Given the description of an element on the screen output the (x, y) to click on. 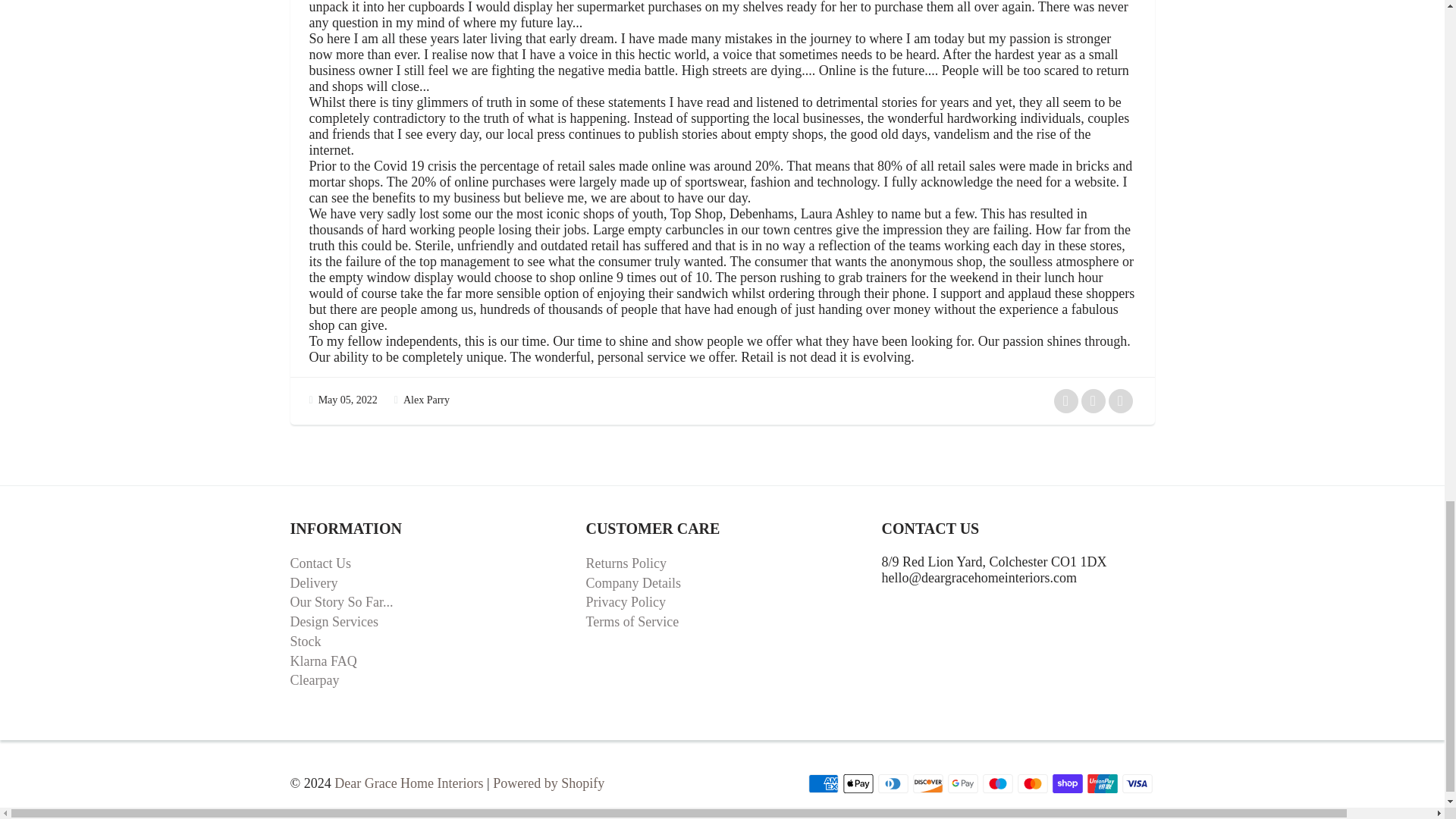
Discover (927, 783)
Google Pay (962, 783)
Maestro (997, 783)
Shop Pay (1067, 783)
Union Pay (1102, 783)
Apple Pay (858, 783)
American Express (823, 783)
Diners Club (892, 783)
Visa (1137, 783)
Mastercard (1032, 783)
